Given the description of an element on the screen output the (x, y) to click on. 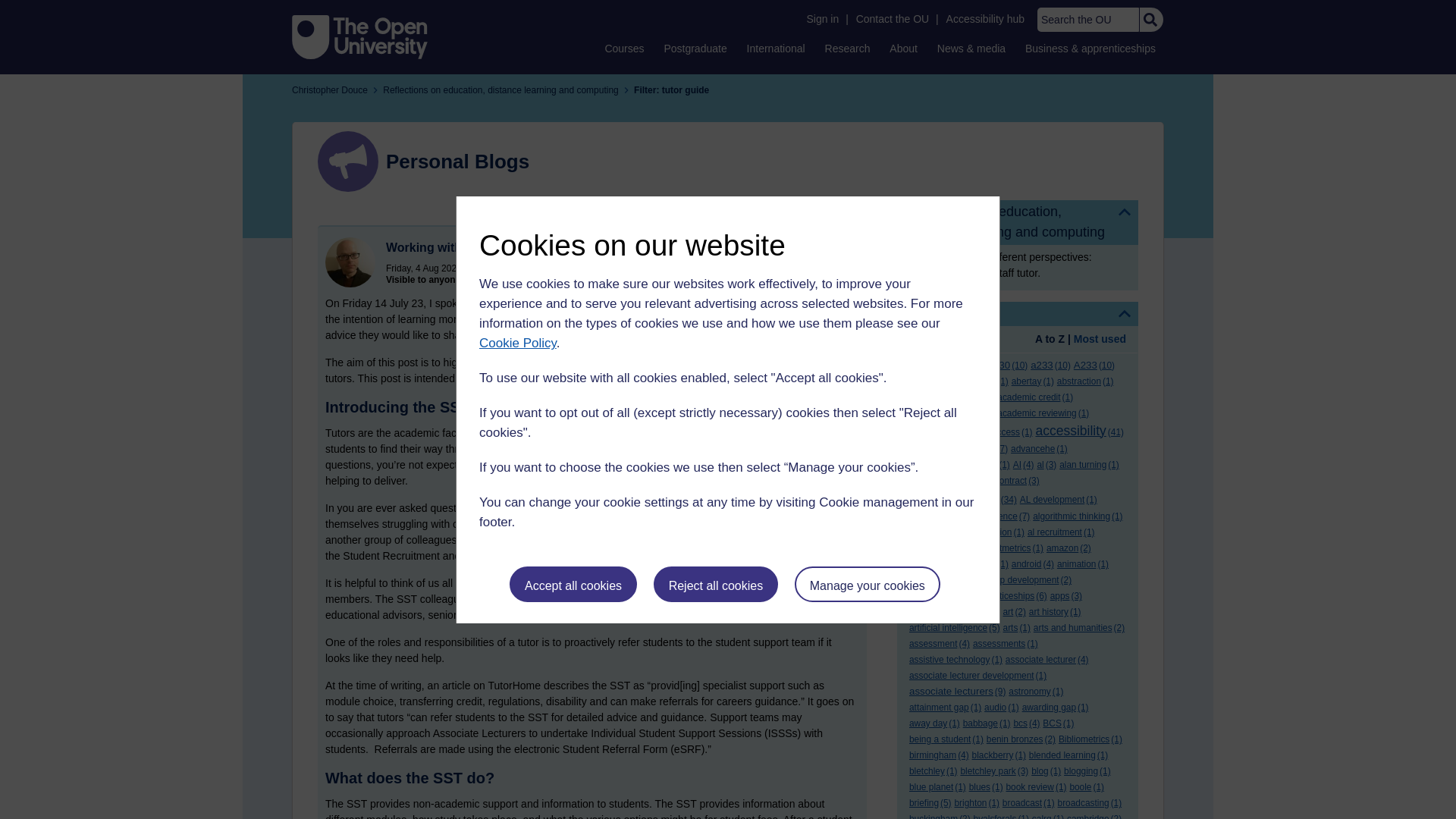
Reject all cookies (715, 583)
The Open University (360, 36)
Manage your cookies (867, 583)
Help with Order: (951, 340)
Contact the OU (892, 19)
Research (847, 48)
Reflections on education, distance learning and computing (1017, 221)
Christopher Douce (349, 261)
Accessibility hub (985, 19)
Accept all cookies (573, 583)
